Given the description of an element on the screen output the (x, y) to click on. 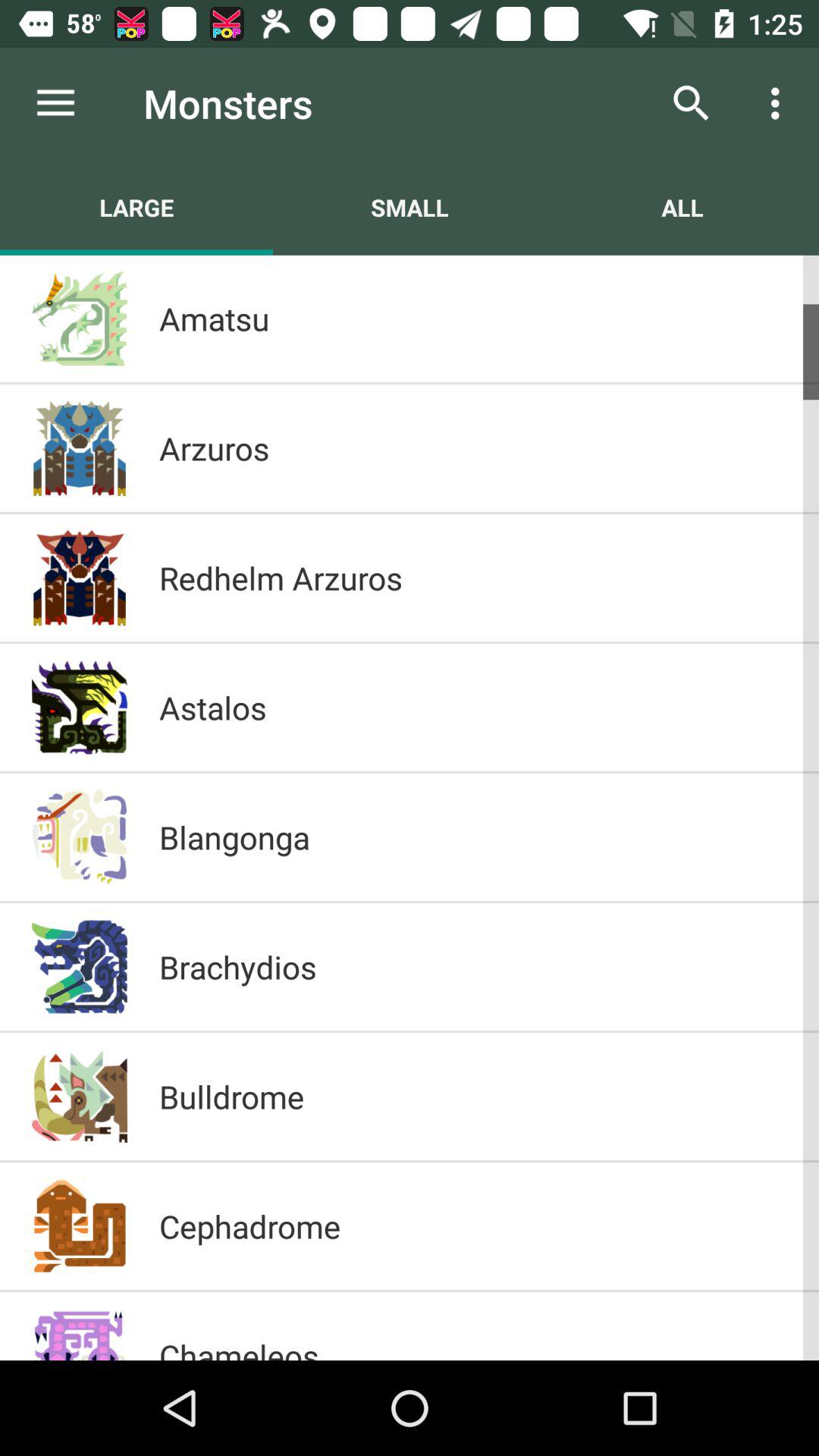
press item above the arzuros icon (473, 318)
